Given the description of an element on the screen output the (x, y) to click on. 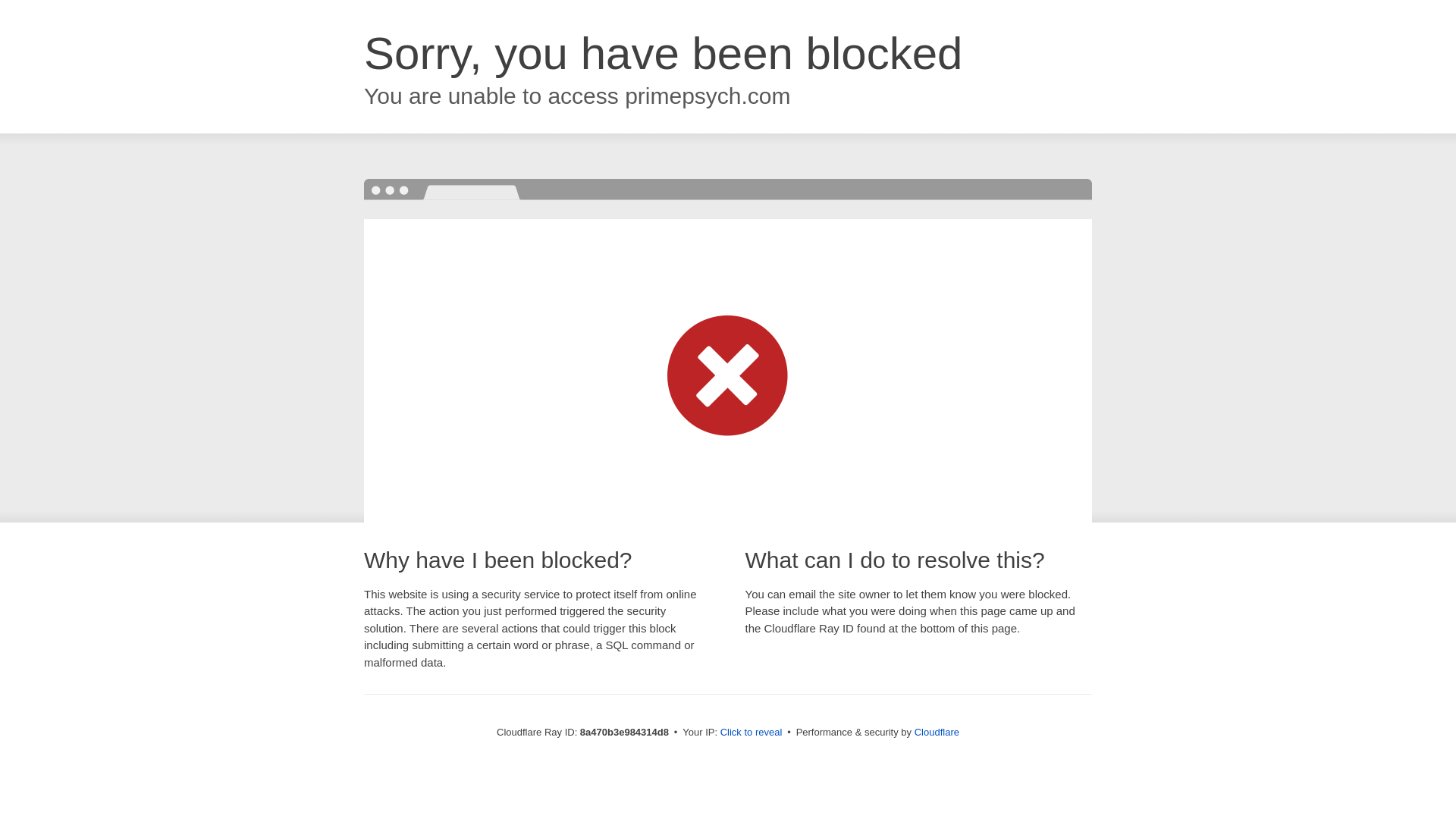
Cloudflare (936, 731)
Click to reveal (751, 732)
